Given the description of an element on the screen output the (x, y) to click on. 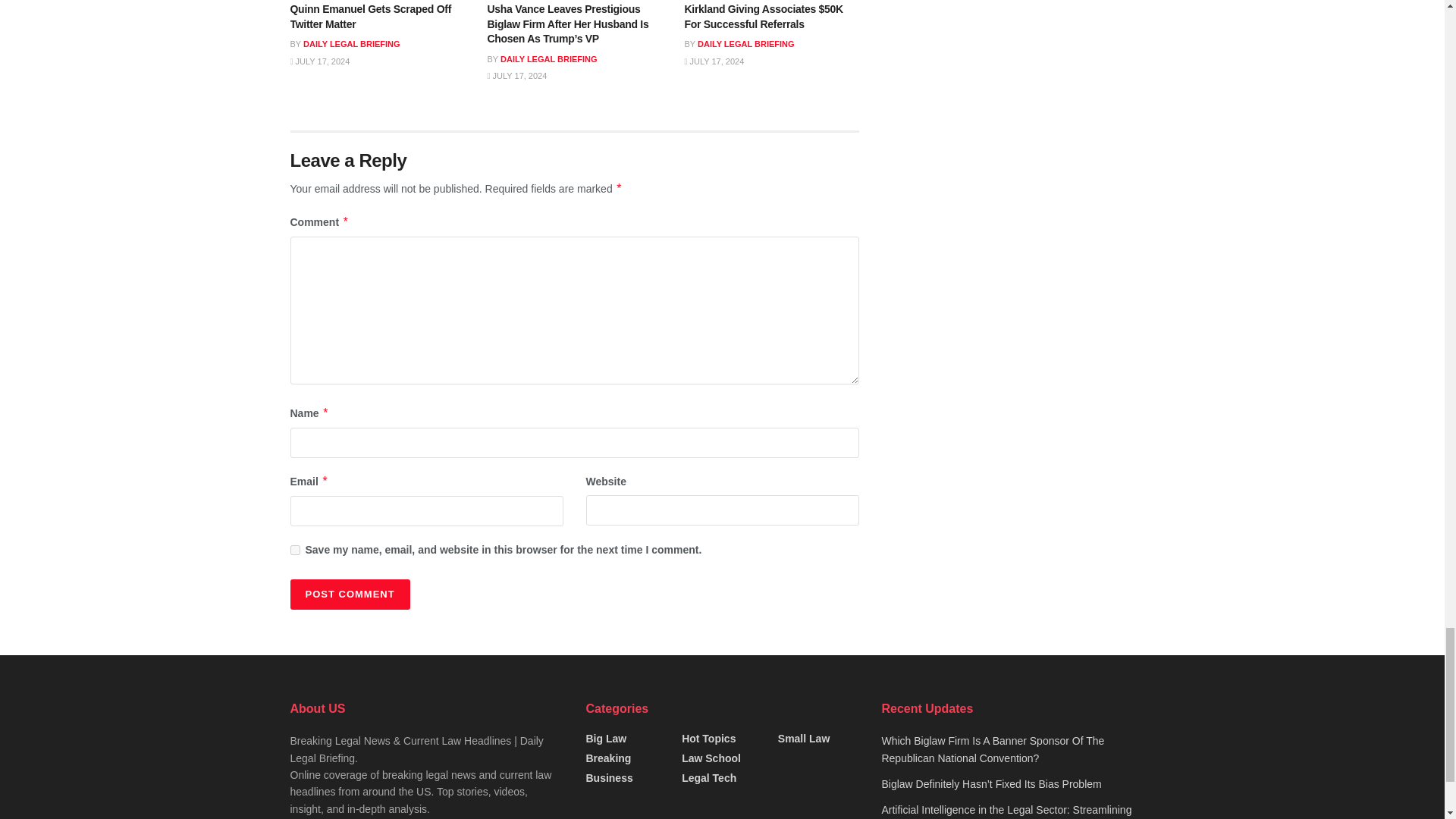
Post Comment (349, 594)
yes (294, 550)
